Given the description of an element on the screen output the (x, y) to click on. 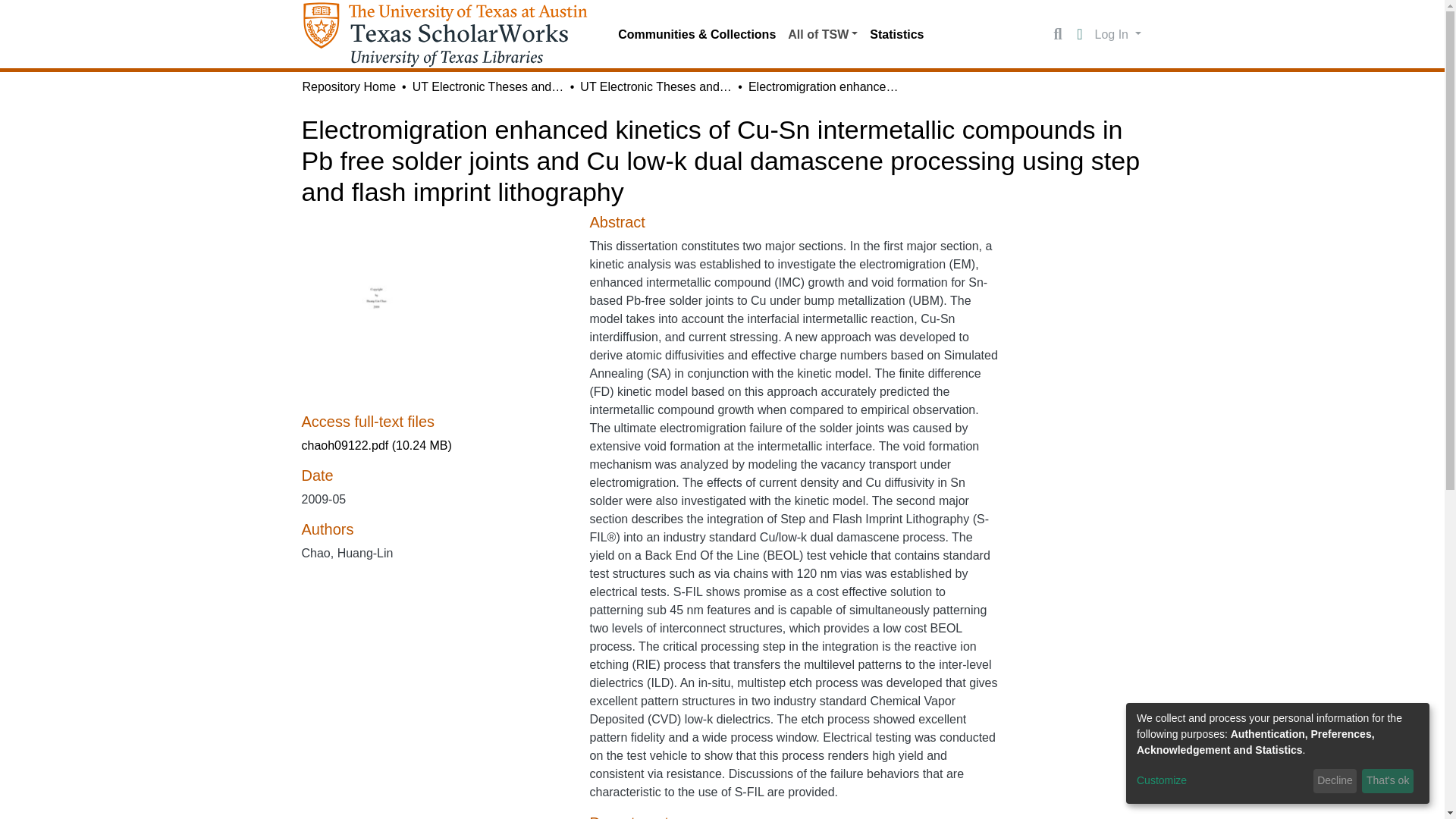
UT Electronic Theses and Dissertations (488, 86)
Repository Home (348, 86)
All of TSW (822, 34)
Language switch (1079, 34)
Search (1057, 34)
UT Electronic Theses and Dissertations (655, 86)
Log In (1117, 33)
Statistics (896, 34)
Statistics (896, 34)
